Given the description of an element on the screen output the (x, y) to click on. 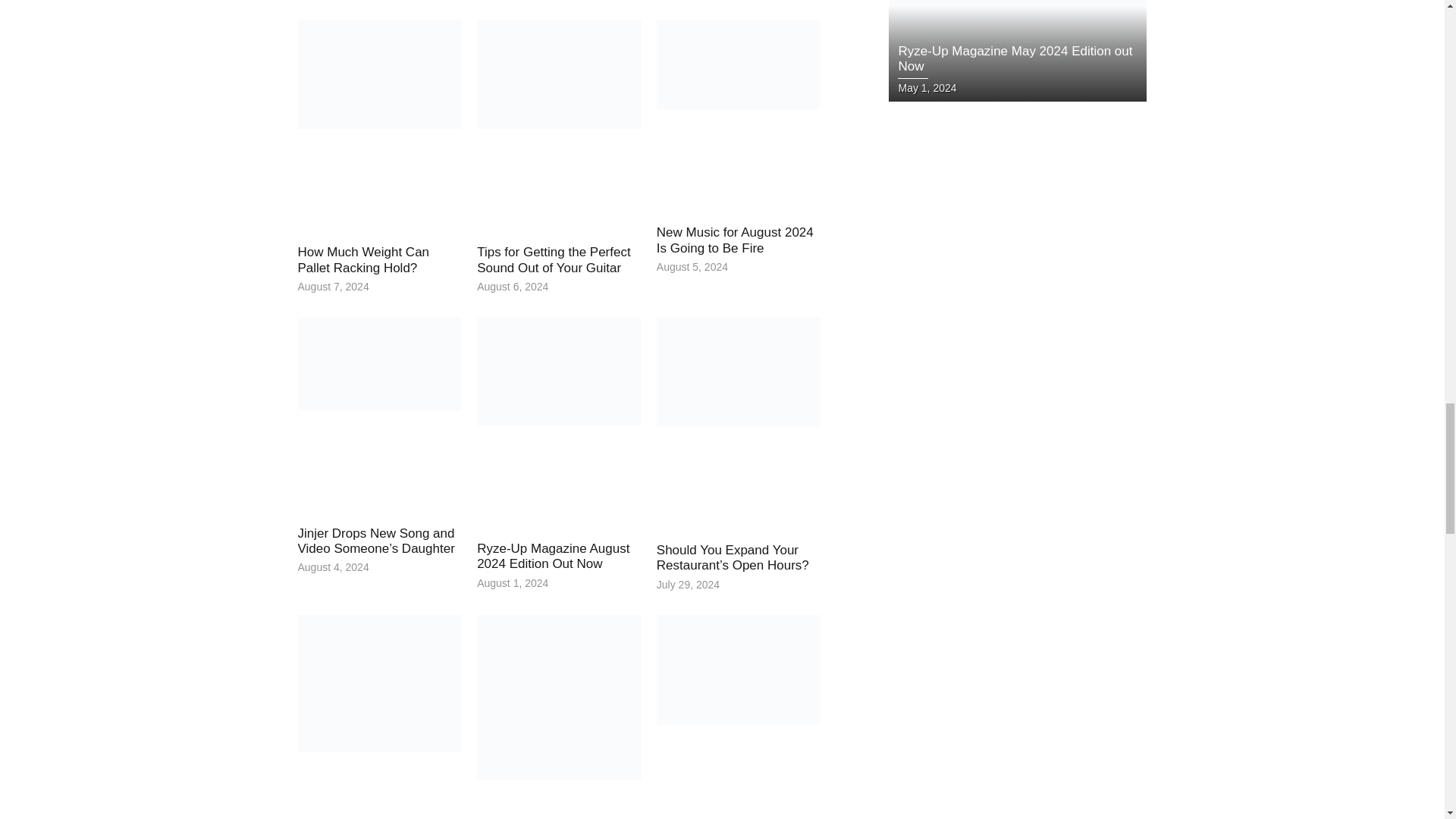
New Music for August 2024 Is Going to Be Fire (734, 239)
Tips for Getting the Perfect Sound Out of Your Guitar (553, 259)
How Much Weight Can Pallet Racking Hold? (363, 259)
